Given the description of an element on the screen output the (x, y) to click on. 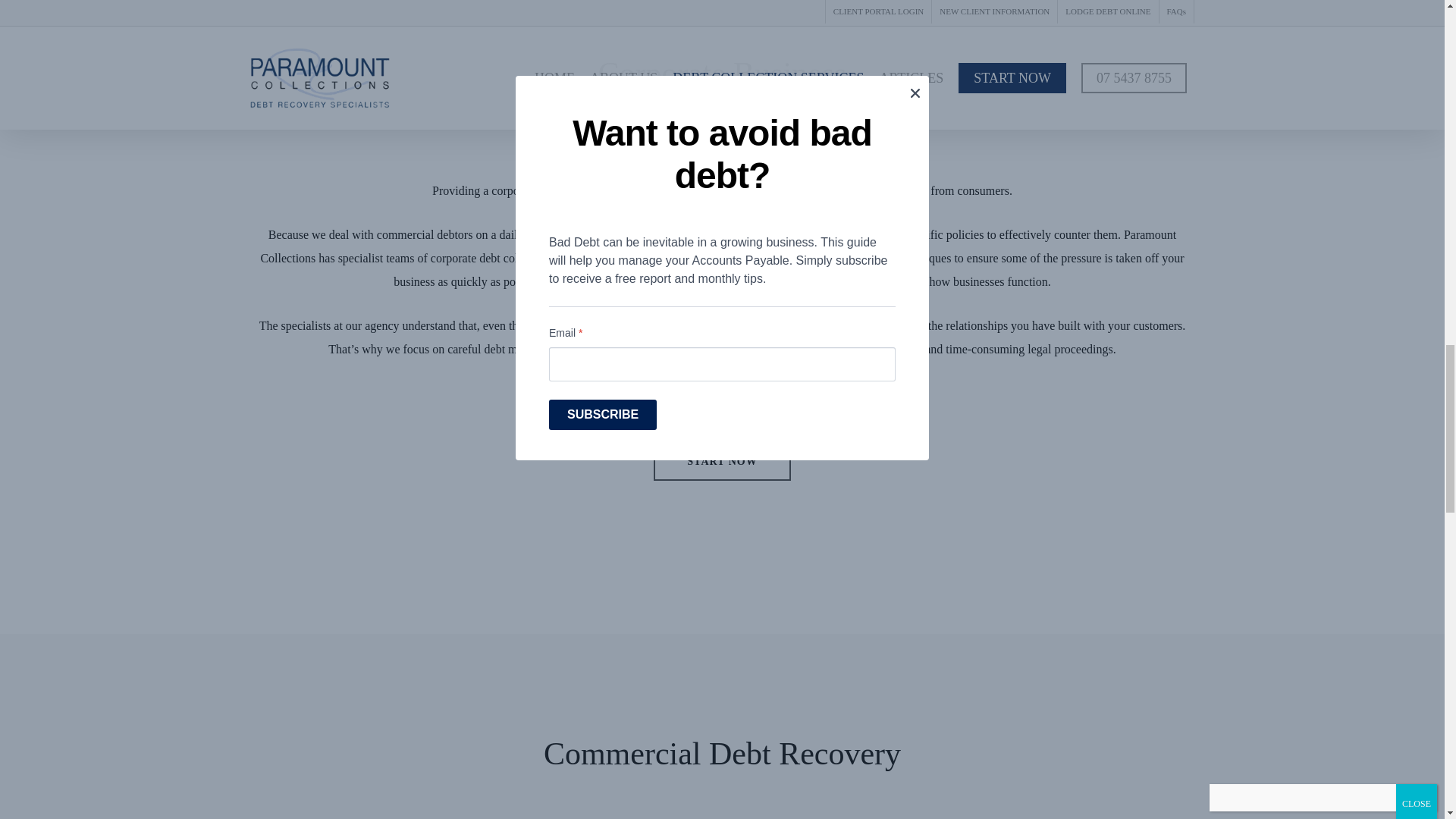
START NOW (721, 461)
